Given the description of an element on the screen output the (x, y) to click on. 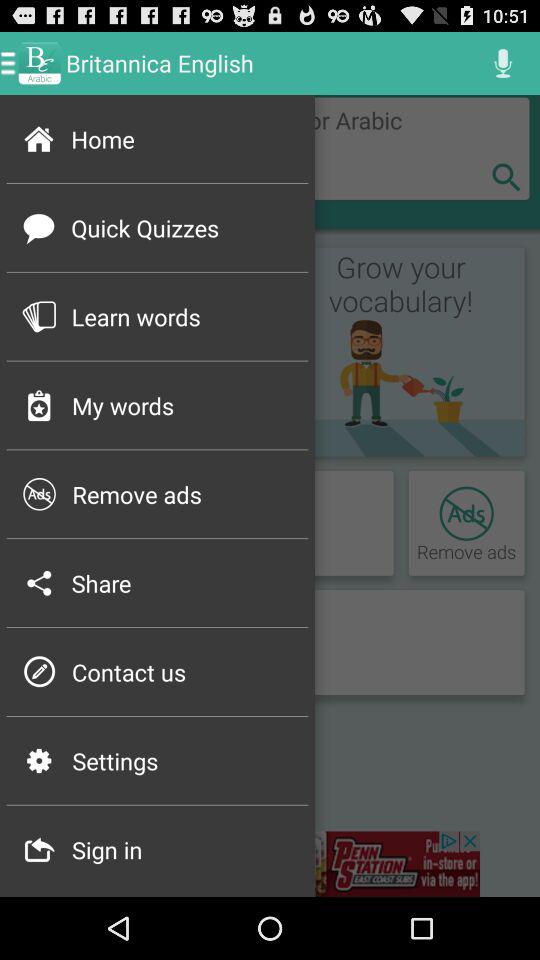
press app next to britannica english item (503, 62)
